Given the description of an element on the screen output the (x, y) to click on. 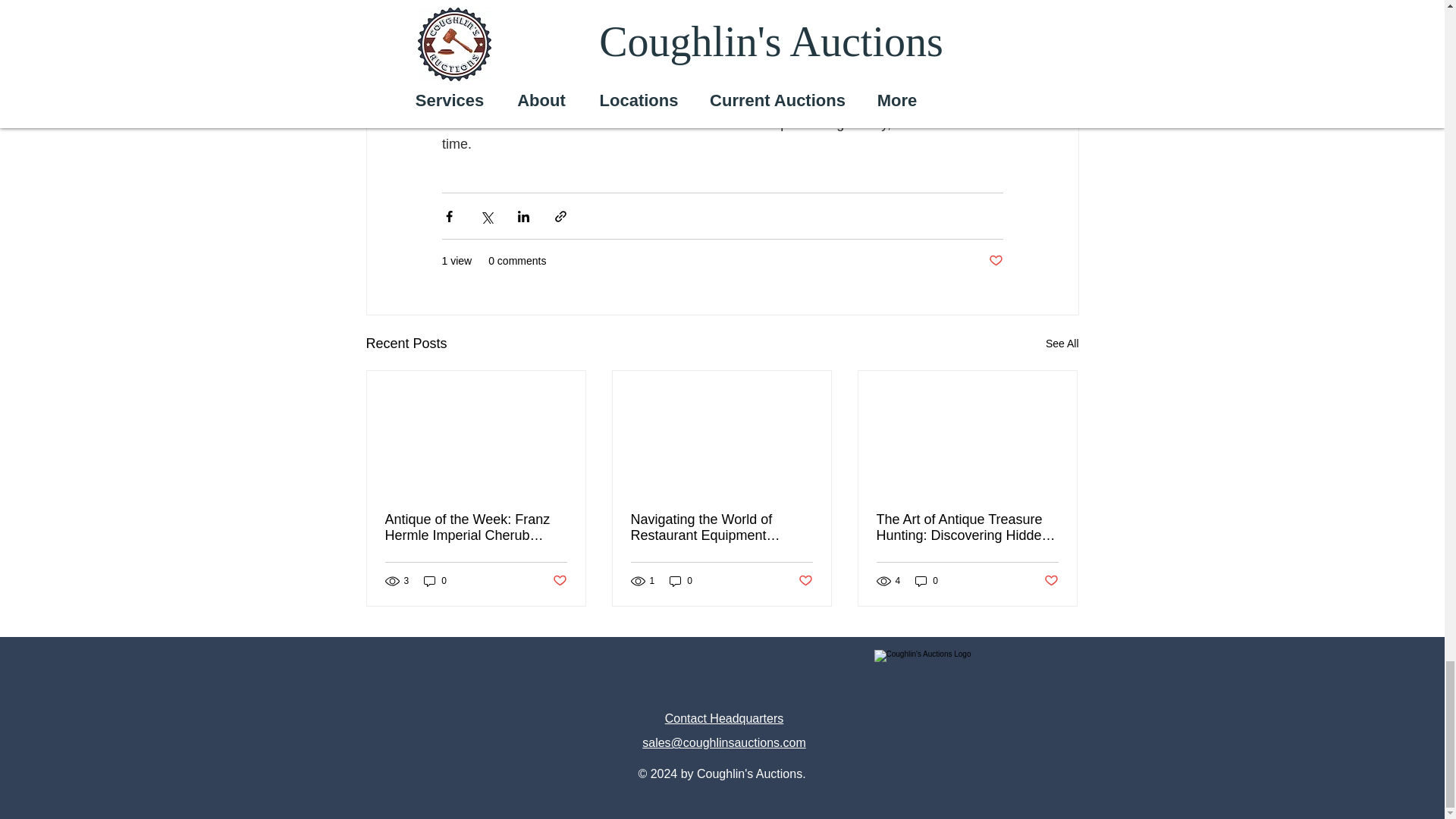
Post not marked as liked (558, 580)
0 (435, 581)
The Art of Antique Treasure Hunting: Discovering Hidden Gems (967, 527)
Coughlin's New Logo  White Outline.png (951, 727)
Post not marked as liked (804, 580)
0 (681, 581)
Post not marked as liked (1050, 580)
0 (926, 581)
Post not marked as liked (995, 261)
See All (1061, 343)
